Given the description of an element on the screen output the (x, y) to click on. 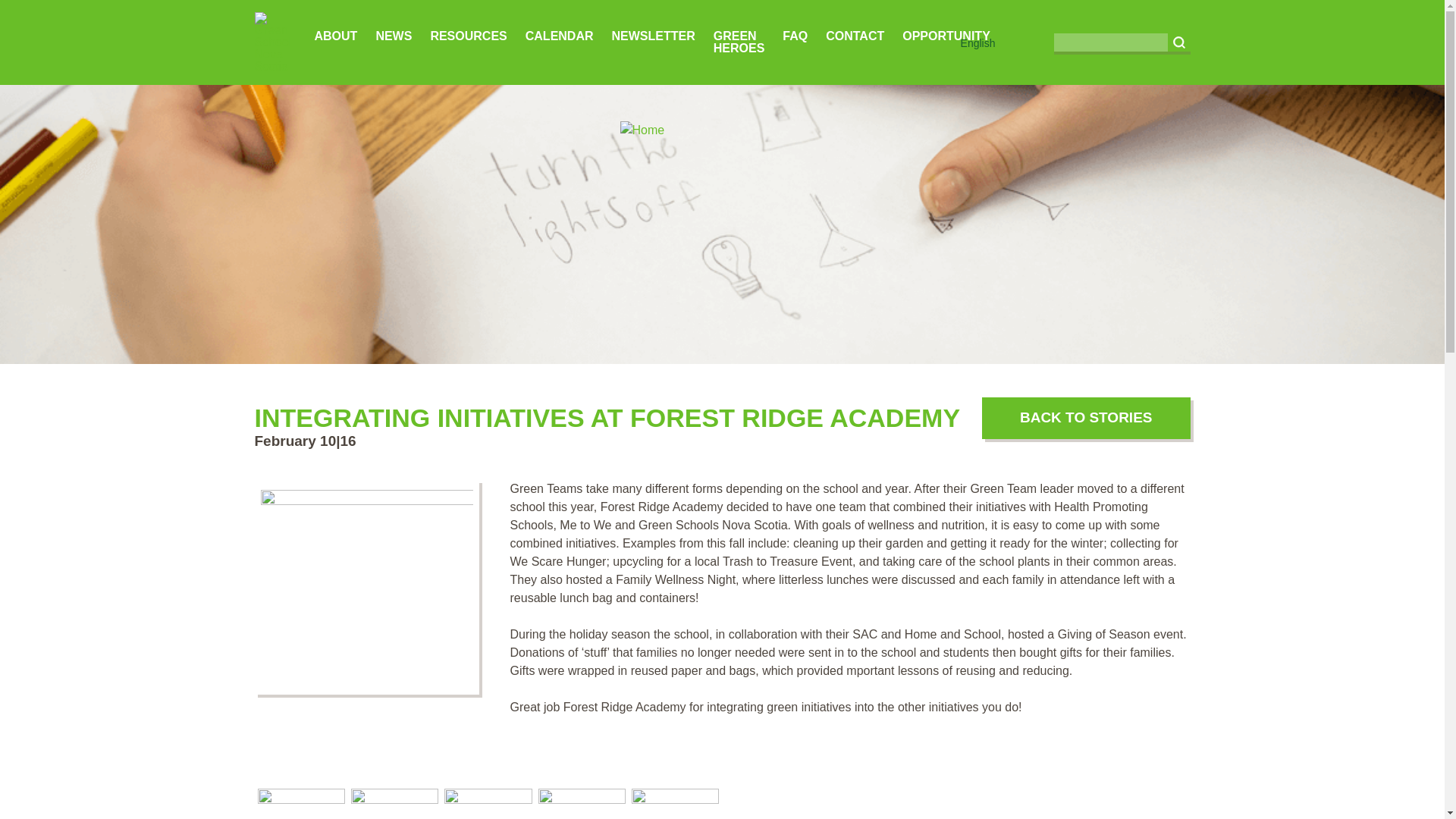
English (977, 42)
BACK TO STORIES (1086, 417)
Search (1179, 42)
FAQ (795, 36)
English (977, 42)
Search (1179, 42)
NEWSLETTER (653, 36)
OPPORTUNITY (946, 36)
RESOURCES (467, 36)
NEWS (393, 36)
CONTACT (854, 36)
GREEN HEROES (739, 42)
ABOUT (335, 36)
CALENDAR (559, 36)
